Given the description of an element on the screen output the (x, y) to click on. 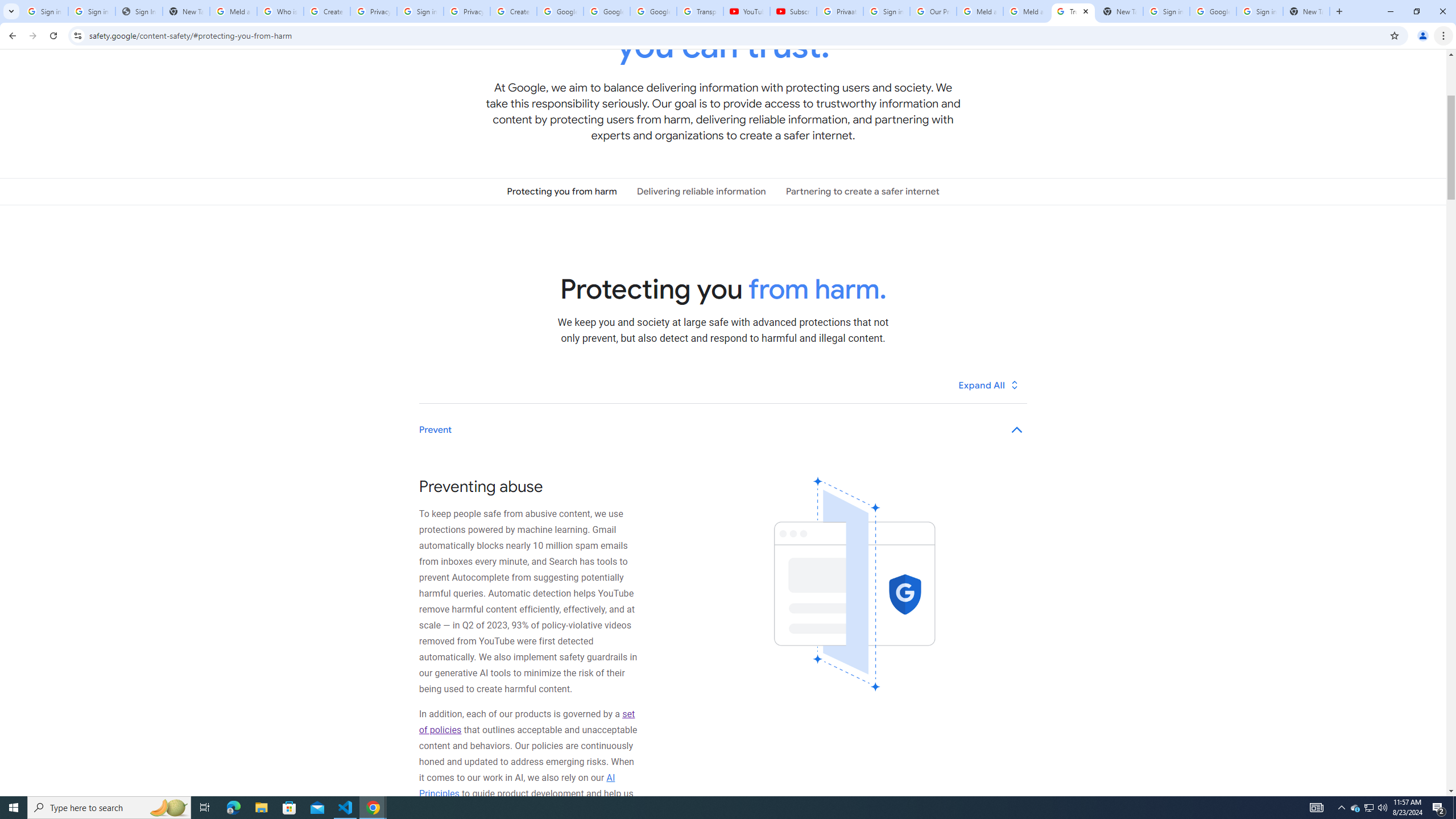
Who is my administrator? - Google Account Help (279, 11)
AI Principles (517, 785)
YouTube (745, 11)
